Given the description of an element on the screen output the (x, y) to click on. 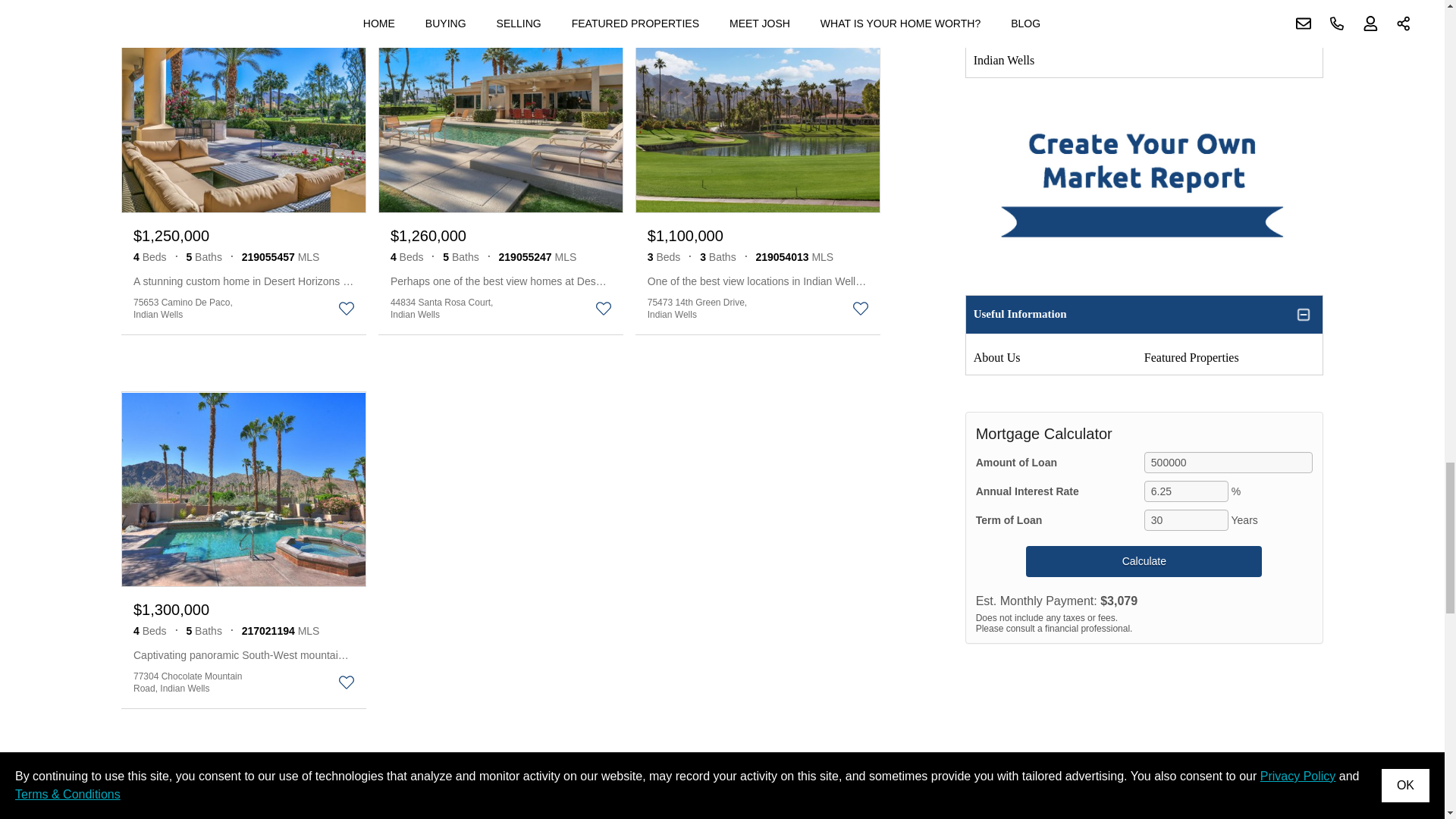
30 (1186, 519)
500000 (1228, 462)
6.25 (1186, 491)
